Given the description of an element on the screen output the (x, y) to click on. 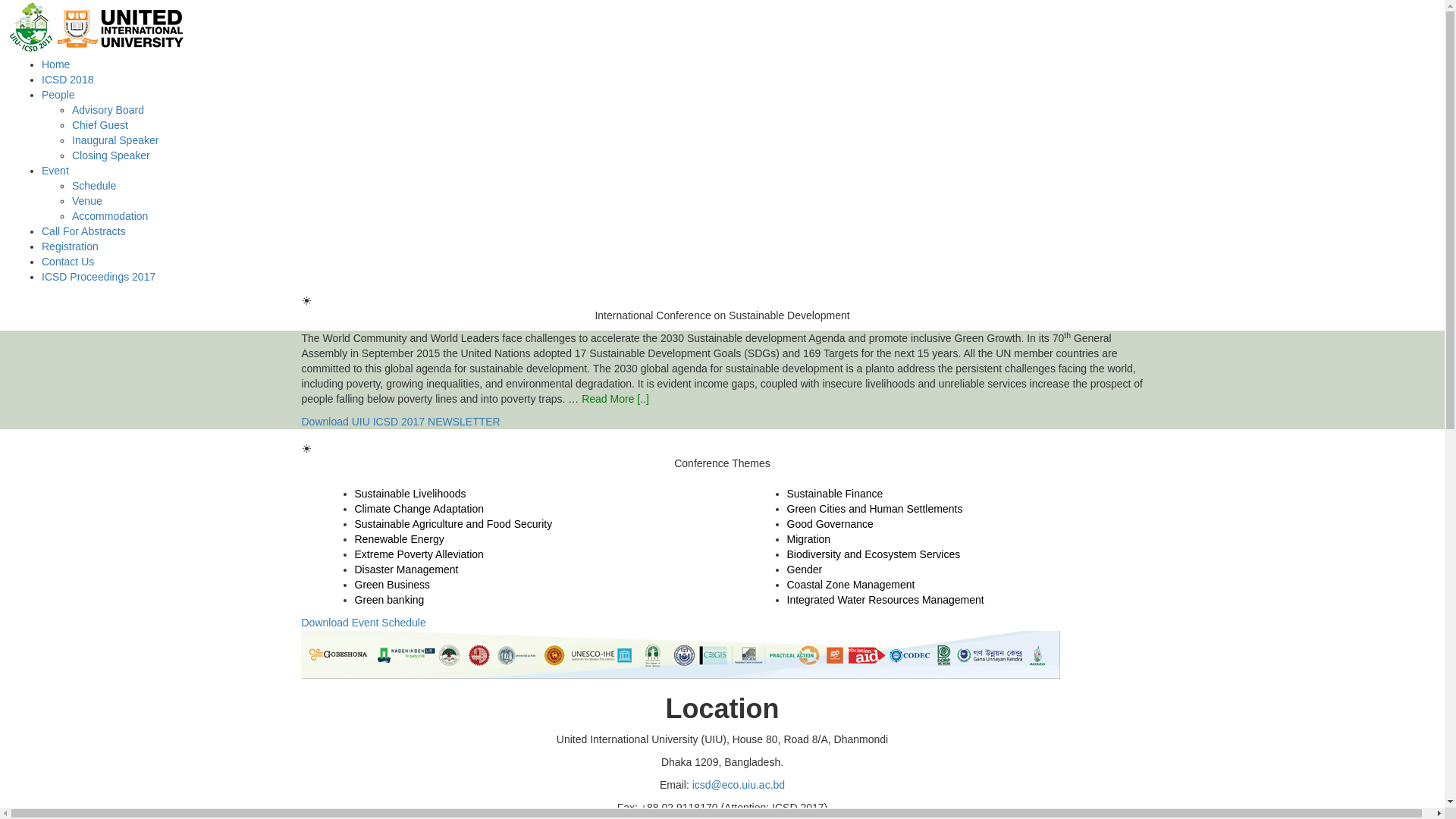
Closing Speaker Element type: text (111, 155)
Schedule Element type: text (94, 185)
Home Element type: text (55, 64)
Advisory Board Element type: text (108, 109)
Event Element type: text (55, 170)
Venue Element type: text (87, 200)
ICSD 2018 Element type: text (67, 79)
Download UIU ICSD 2017 NEWSLETTER Element type: text (400, 421)
Inaugural Speaker Element type: text (115, 140)
Registration Element type: text (69, 246)
ICSD Proceedings 2017 Element type: text (98, 276)
Contact Us Element type: text (67, 261)
Read More [..] Element type: text (615, 398)
Call For Abstracts Element type: text (83, 231)
Accommodation Element type: text (109, 216)
People Element type: text (58, 94)
Download Event Schedule Element type: text (363, 622)
icsd@eco.uiu.ac.bd Element type: text (738, 784)
Chief Guest Element type: text (100, 125)
